Given the description of an element on the screen output the (x, y) to click on. 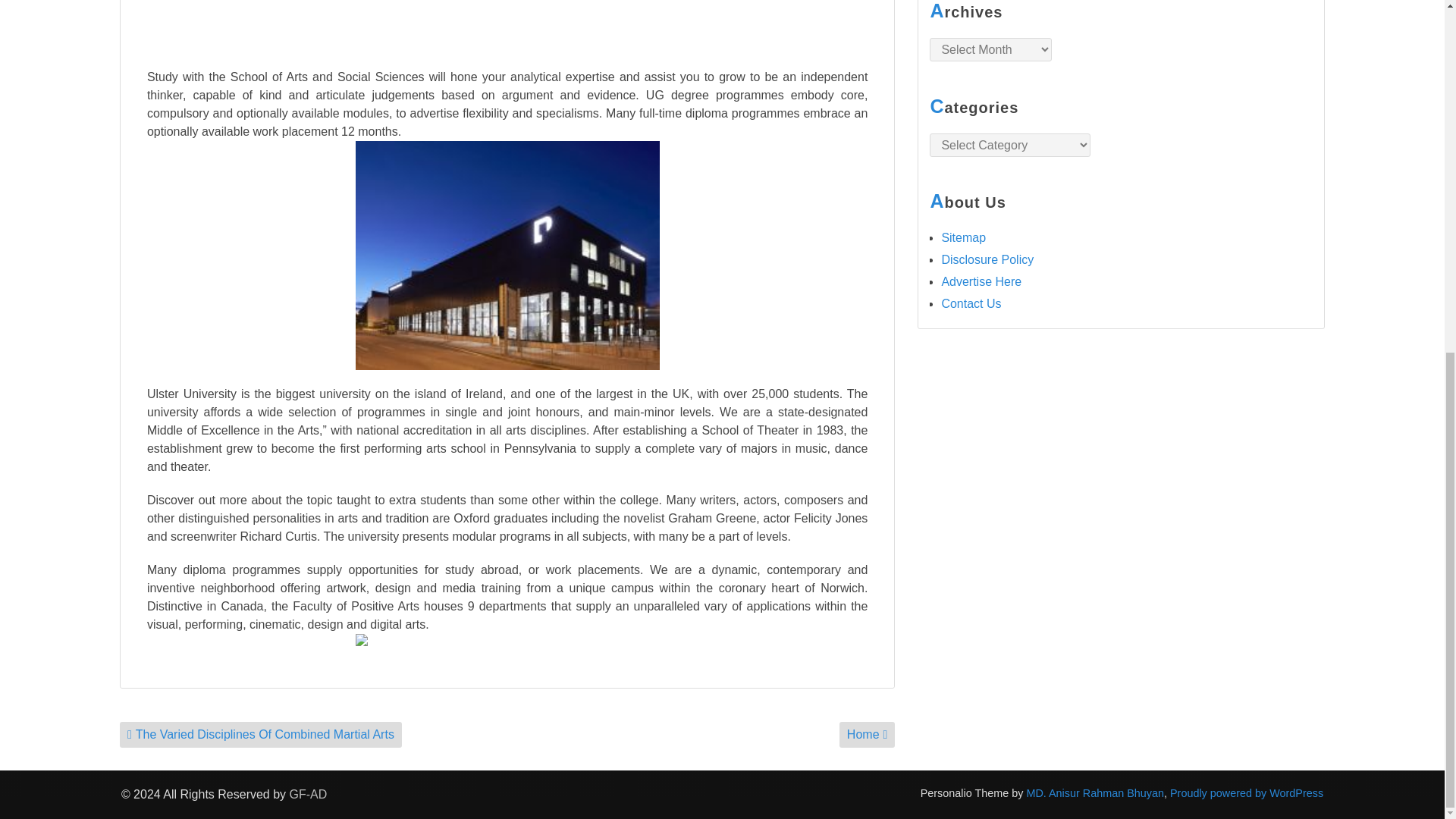
Home (867, 734)
The Varied Disciplines Of Combined Martial Arts (260, 734)
